Given the description of an element on the screen output the (x, y) to click on. 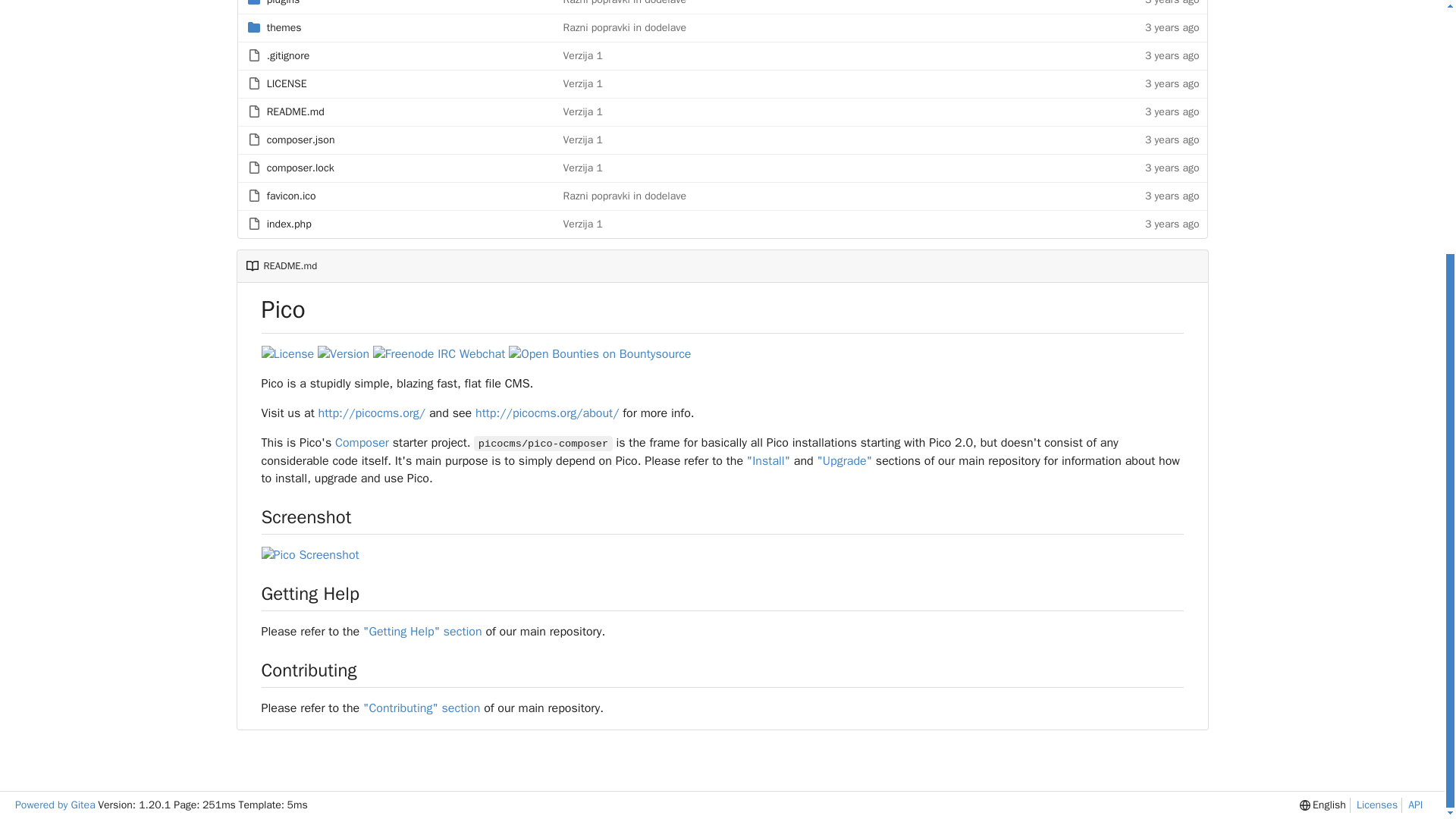
.gitignore (287, 55)
LICENSE (286, 83)
themes (283, 27)
plugins (282, 6)
